Given the description of an element on the screen output the (x, y) to click on. 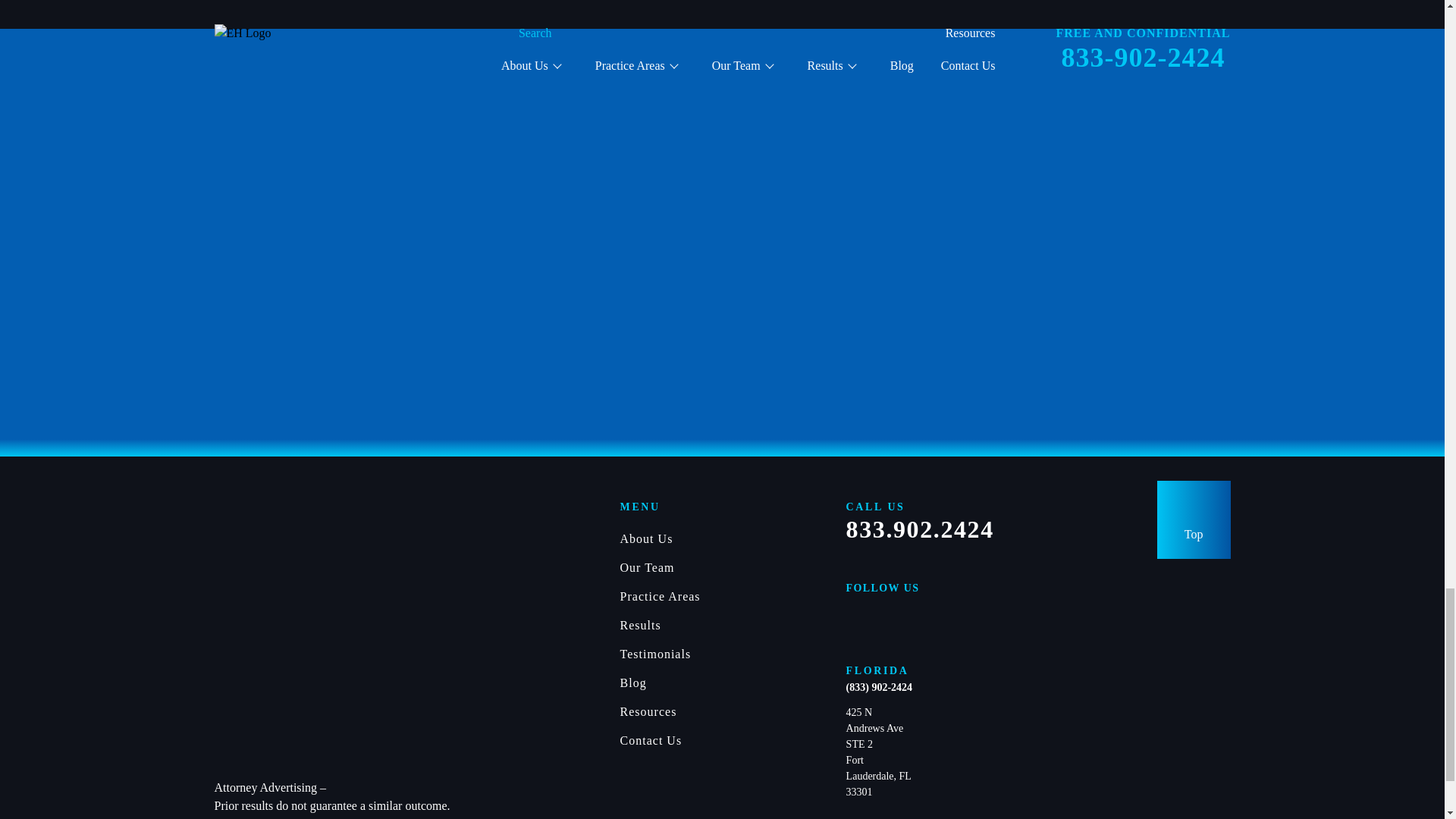
Top (1193, 519)
